Given the description of an element on the screen output the (x, y) to click on. 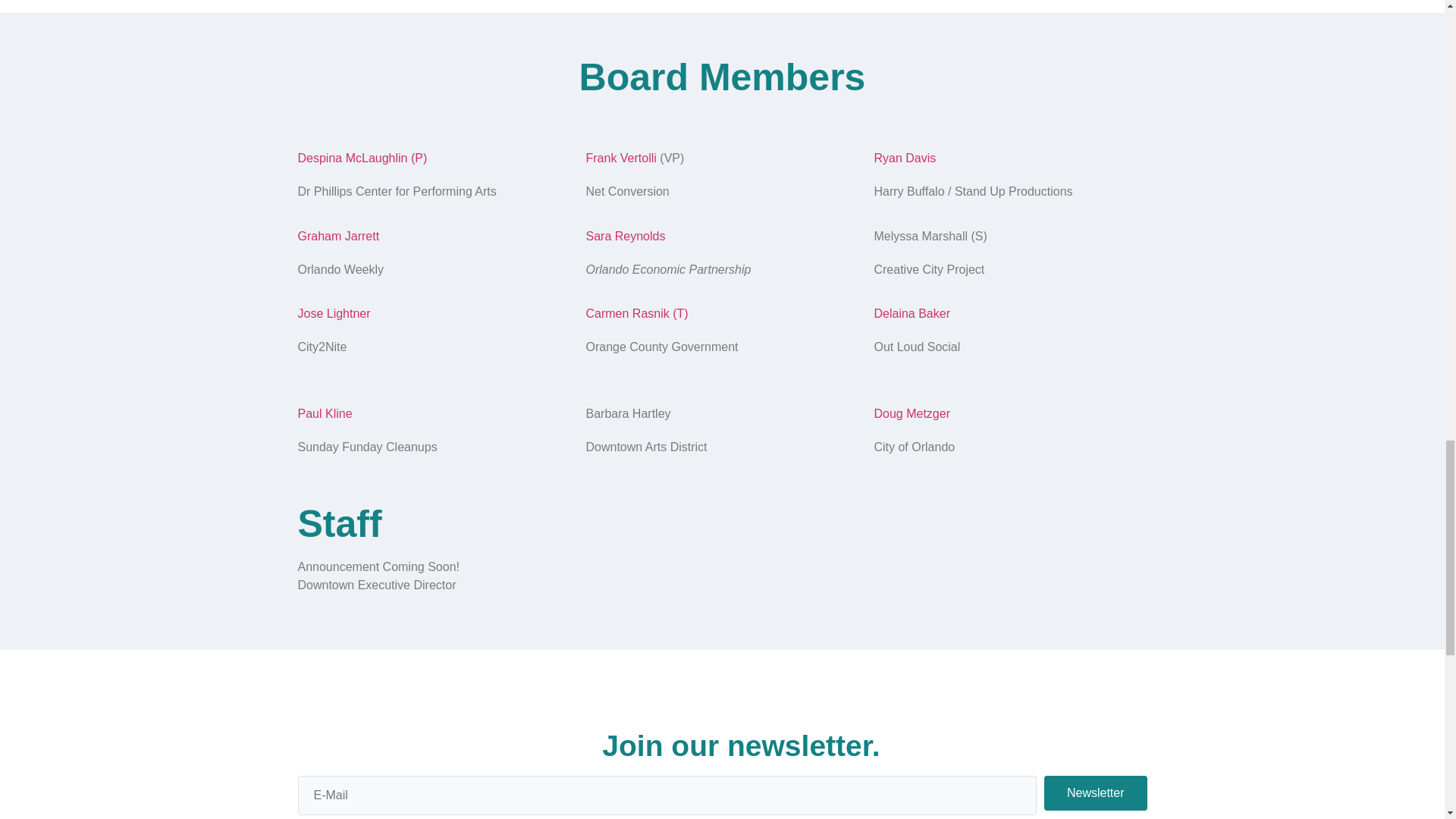
Frank Vertolli (620, 157)
Jose Lightner (333, 313)
Paul Kline (324, 413)
Ryan Davis (904, 157)
Sara Reynolds (625, 236)
Doug Metzger (911, 413)
Delaina Baker (911, 313)
Graham Jarrett (337, 236)
